Given the description of an element on the screen output the (x, y) to click on. 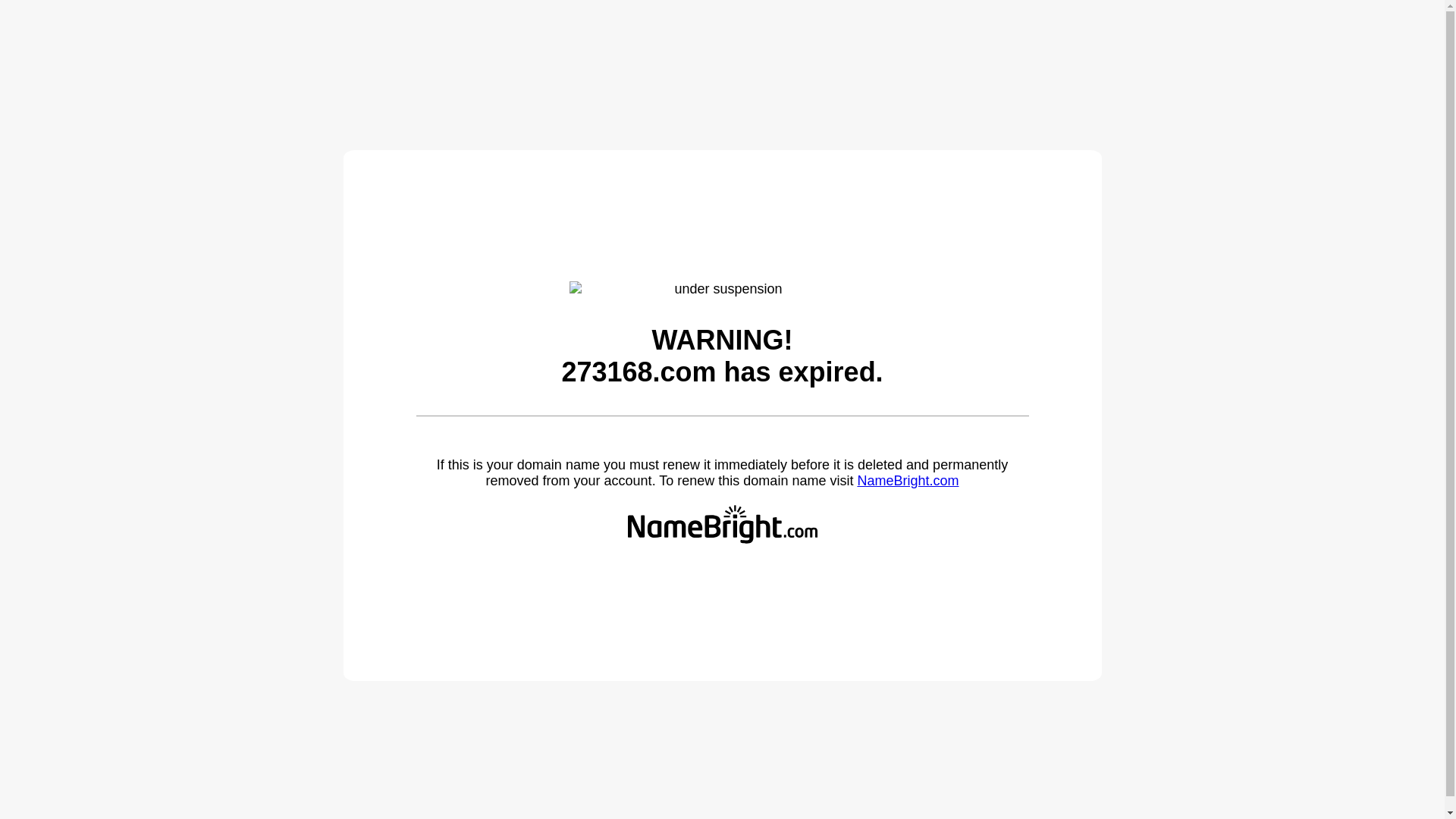
NameBright.com Element type: text (907, 480)
